Given the description of an element on the screen output the (x, y) to click on. 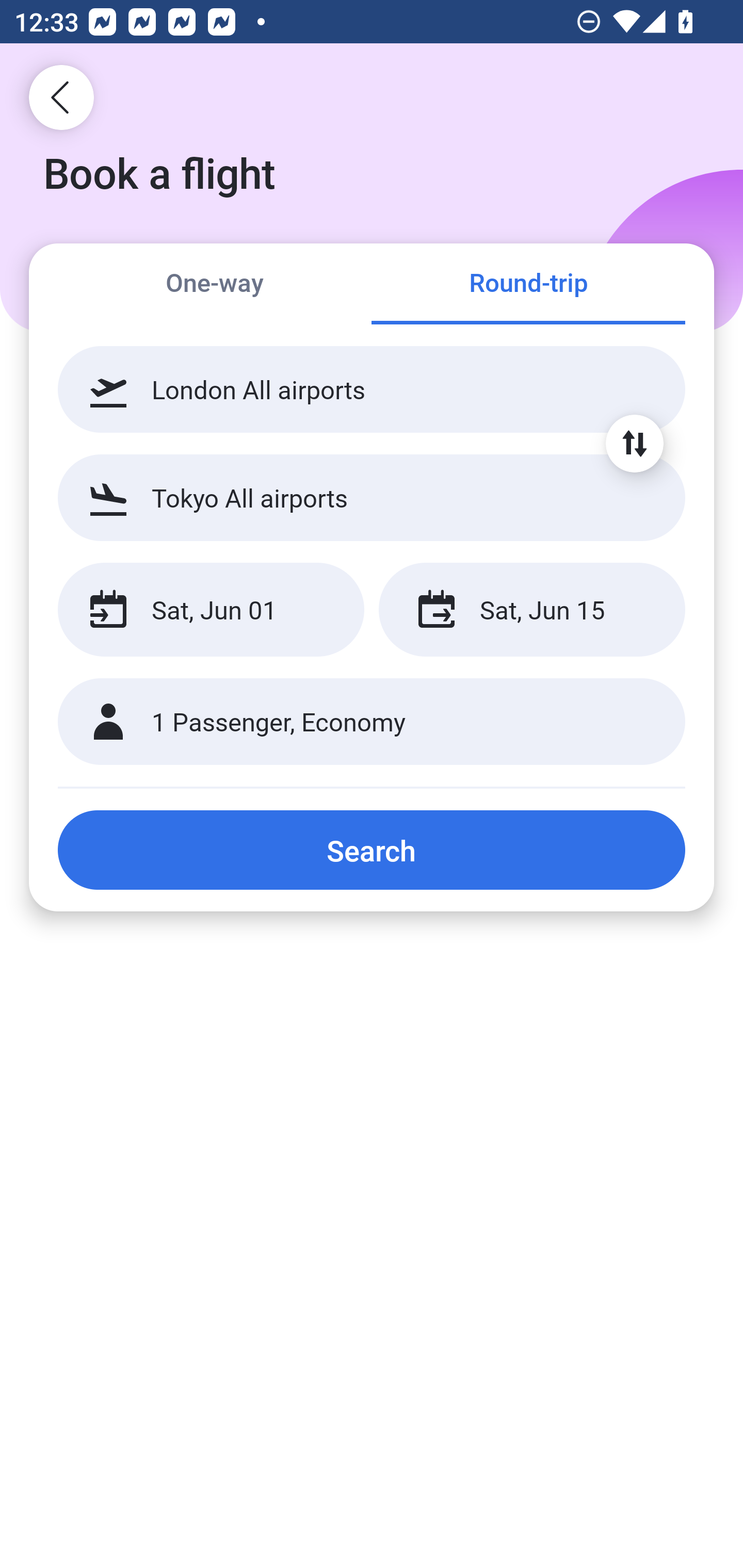
One-way (214, 284)
London All airports (371, 389)
Tokyo All airports (371, 497)
Sat, Jun 01 (210, 609)
Sat, Jun 15 (531, 609)
1 Passenger, Economy (371, 721)
Search (371, 849)
